Given the description of an element on the screen output the (x, y) to click on. 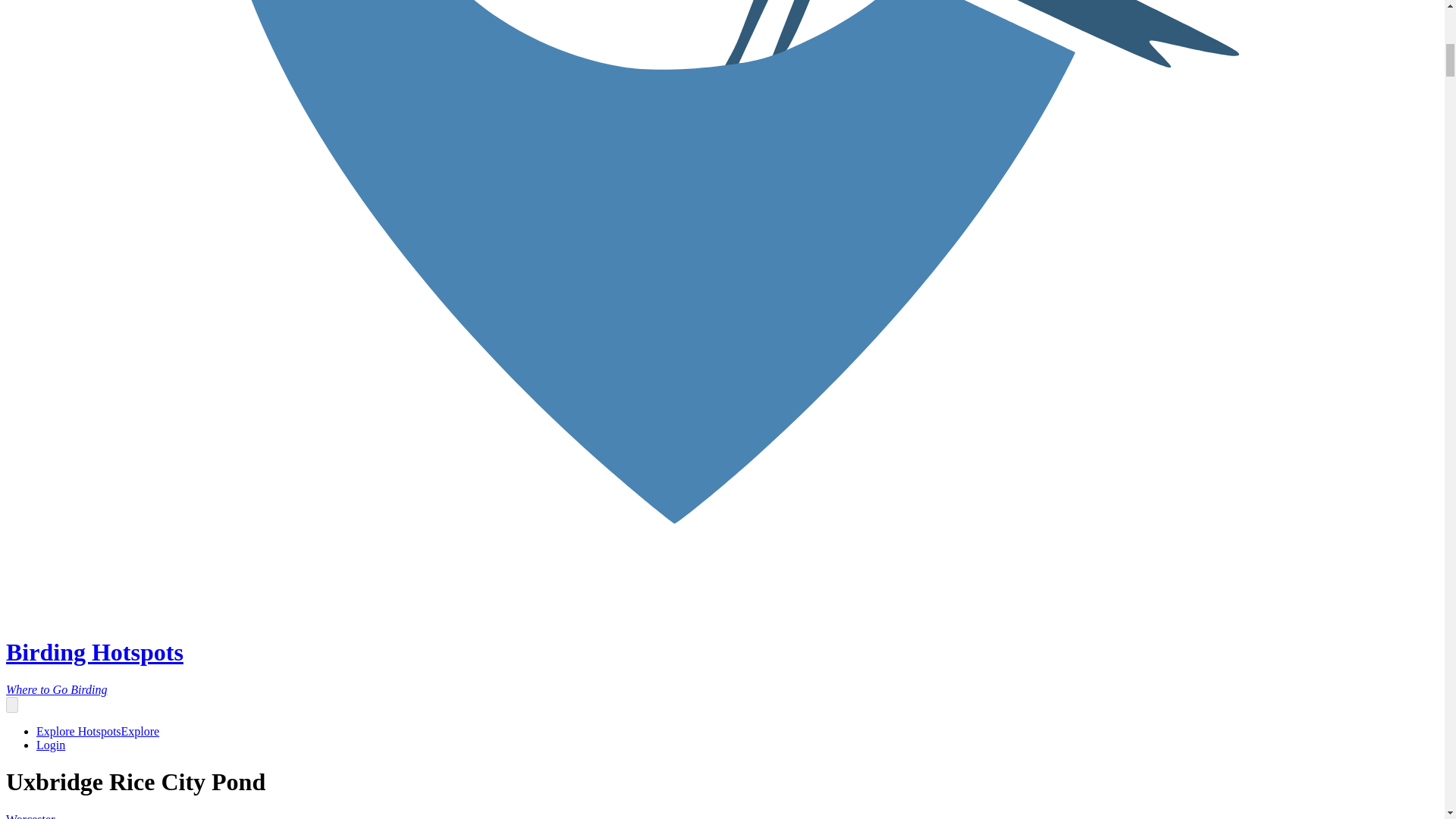
Explore HotspotsExplore (97, 730)
Worcester (30, 816)
Login (50, 744)
